Given the description of an element on the screen output the (x, y) to click on. 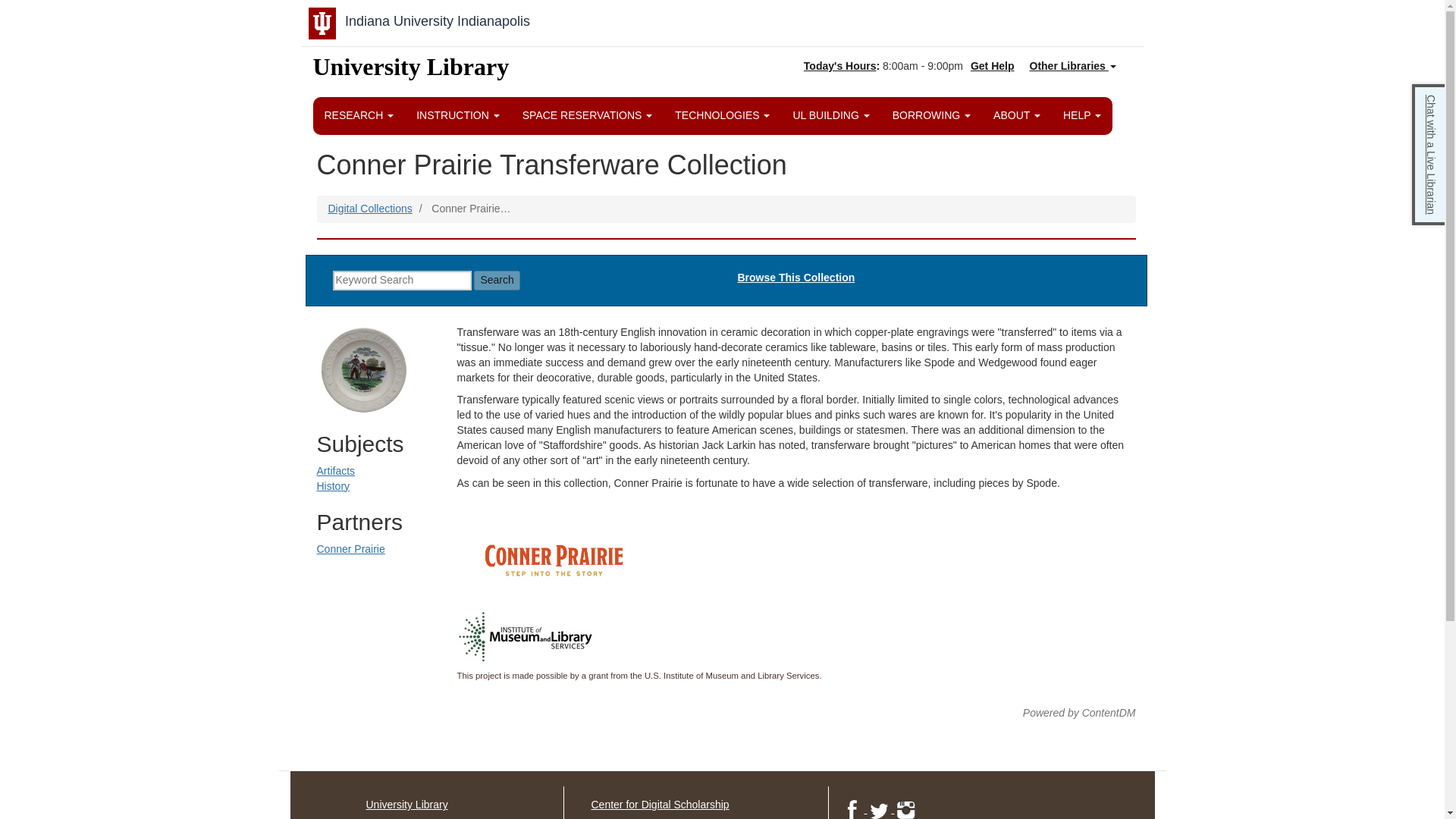
Search (496, 280)
Indiana University Indianapolis (437, 20)
INSTRUCTION (457, 115)
Get Help (992, 65)
TECHNOLOGIES (721, 115)
Today's Hours (839, 65)
SPACE RESERVATIONS (588, 115)
University Library (411, 77)
Indiana University Indianapolis (437, 20)
Other Libraries (1078, 66)
RESEARCH (359, 115)
imls logo (526, 636)
Home (411, 77)
